Given the description of an element on the screen output the (x, y) to click on. 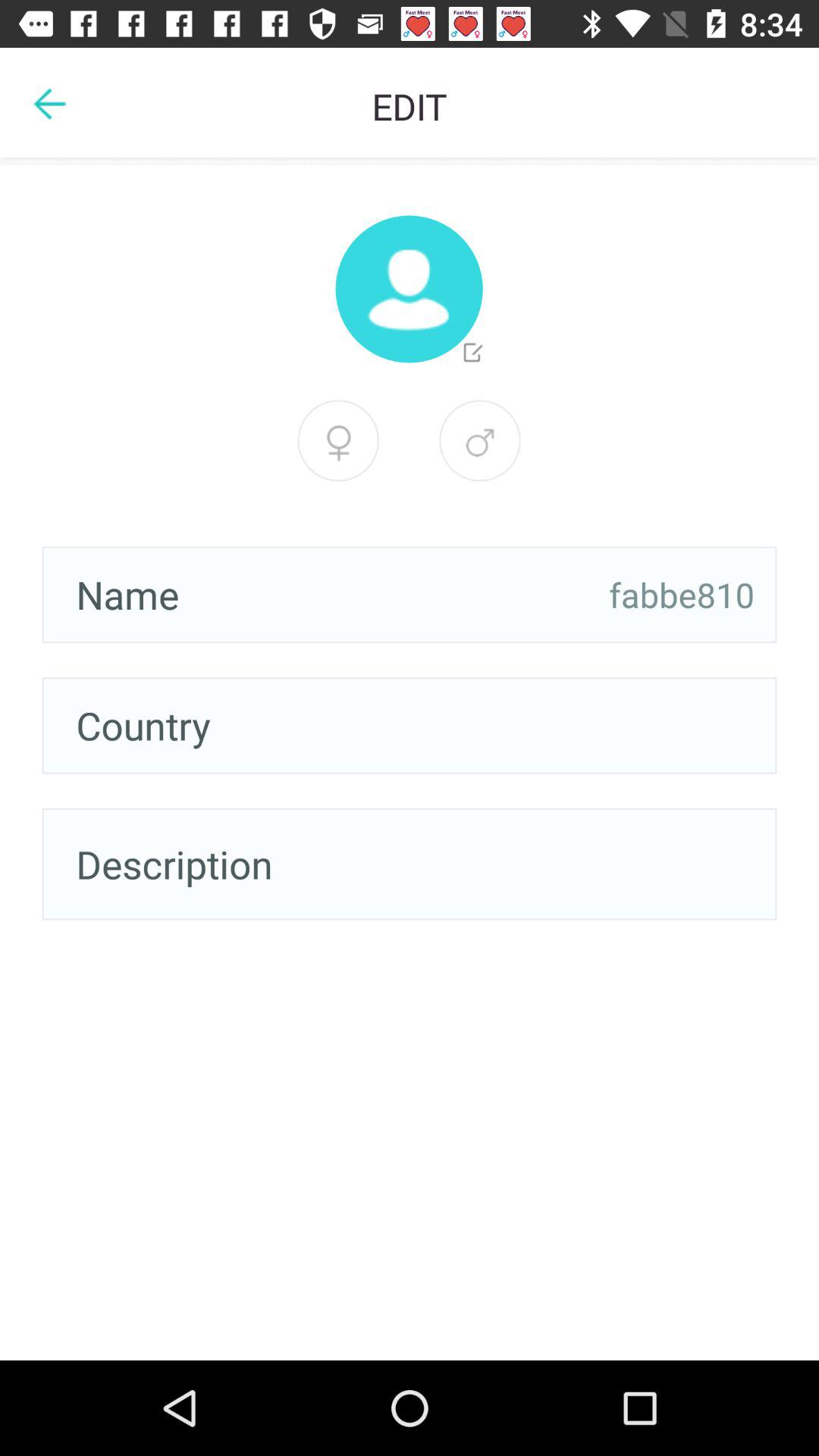
add a profile picture (408, 288)
